Given the description of an element on the screen output the (x, y) to click on. 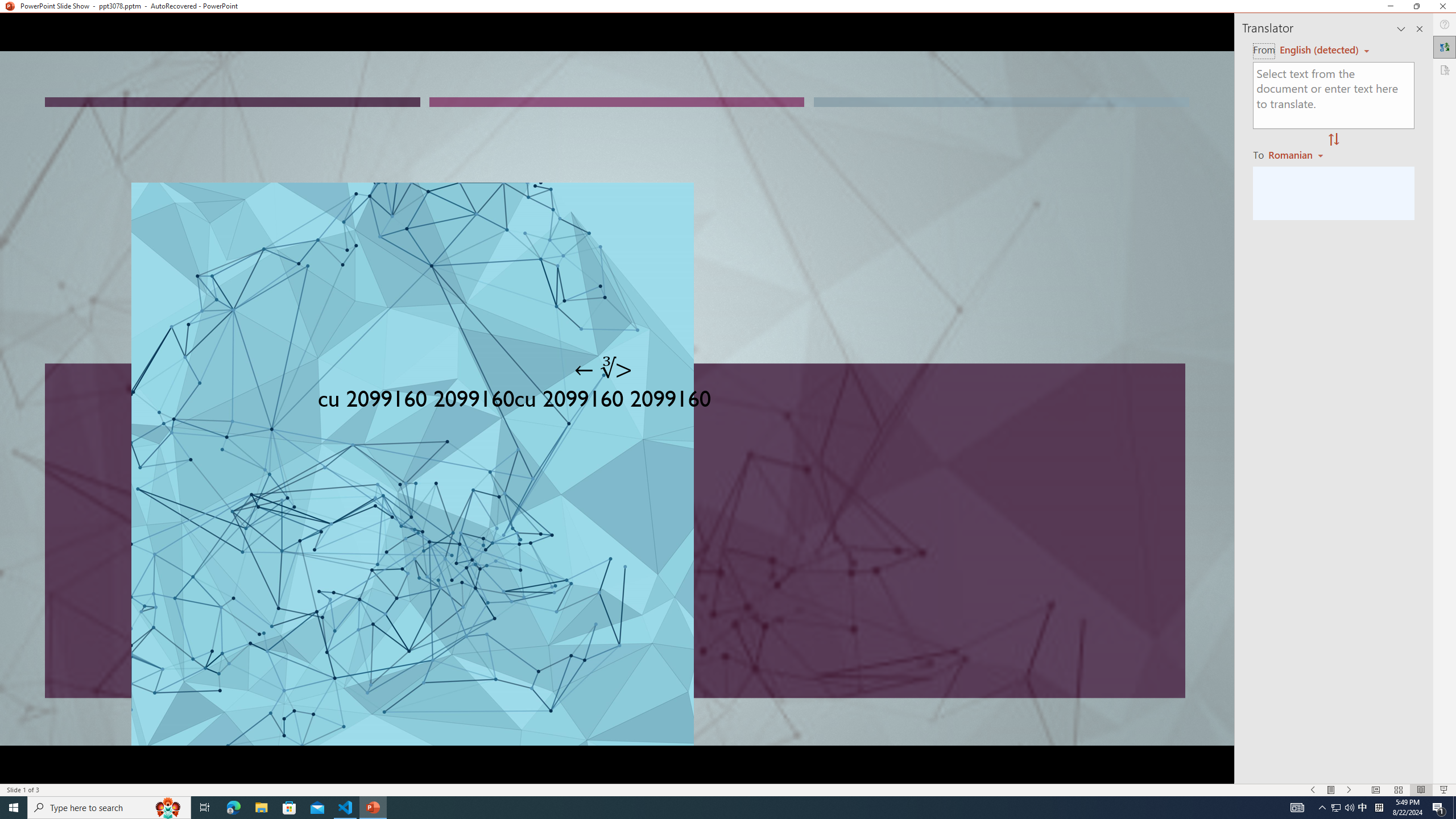
Slide Show Next On (1349, 790)
Slide Show Previous On (1313, 790)
